Given the description of an element on the screen output the (x, y) to click on. 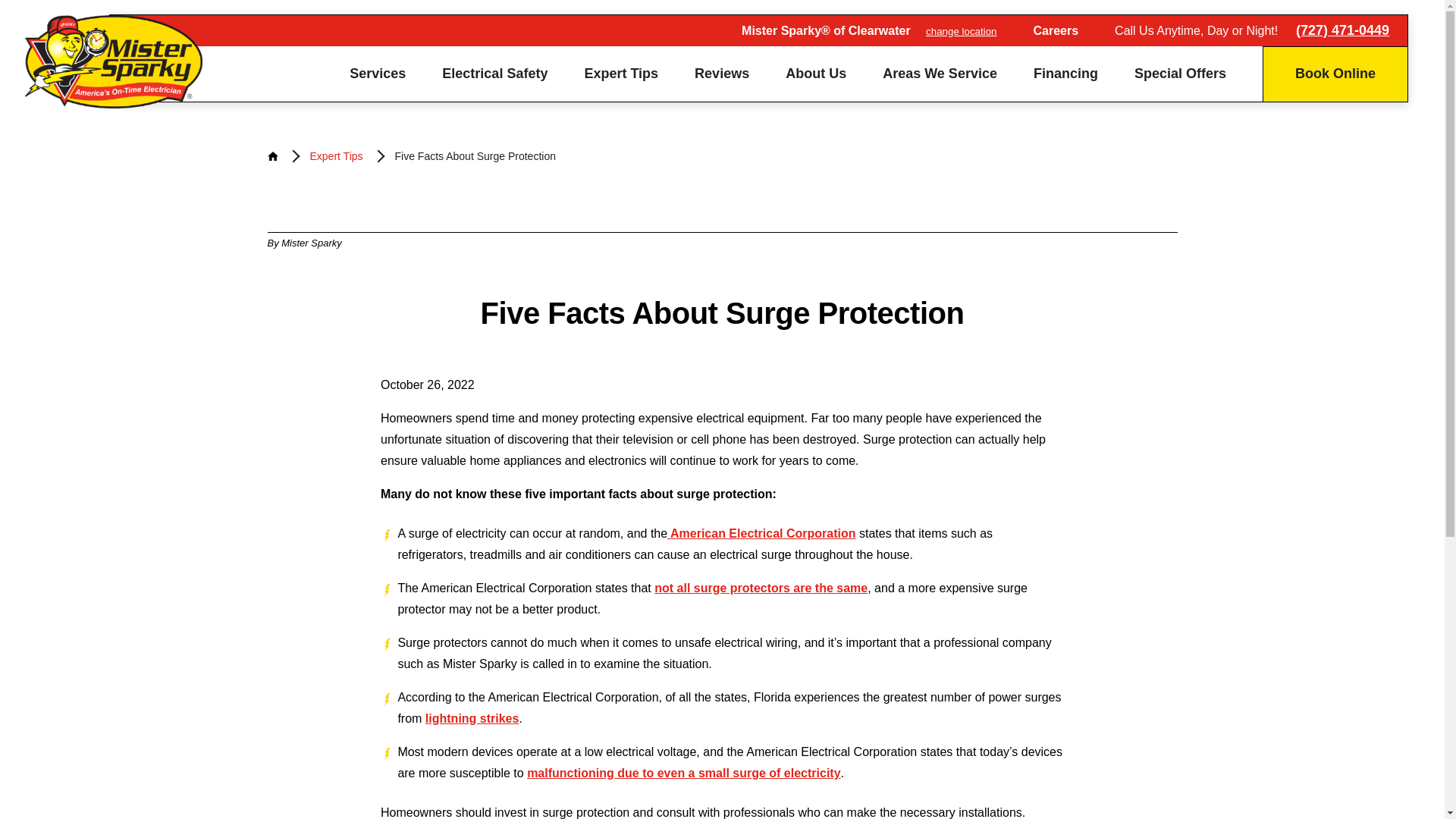
Services (377, 73)
change location (960, 30)
Careers (1055, 30)
